Given the description of an element on the screen output the (x, y) to click on. 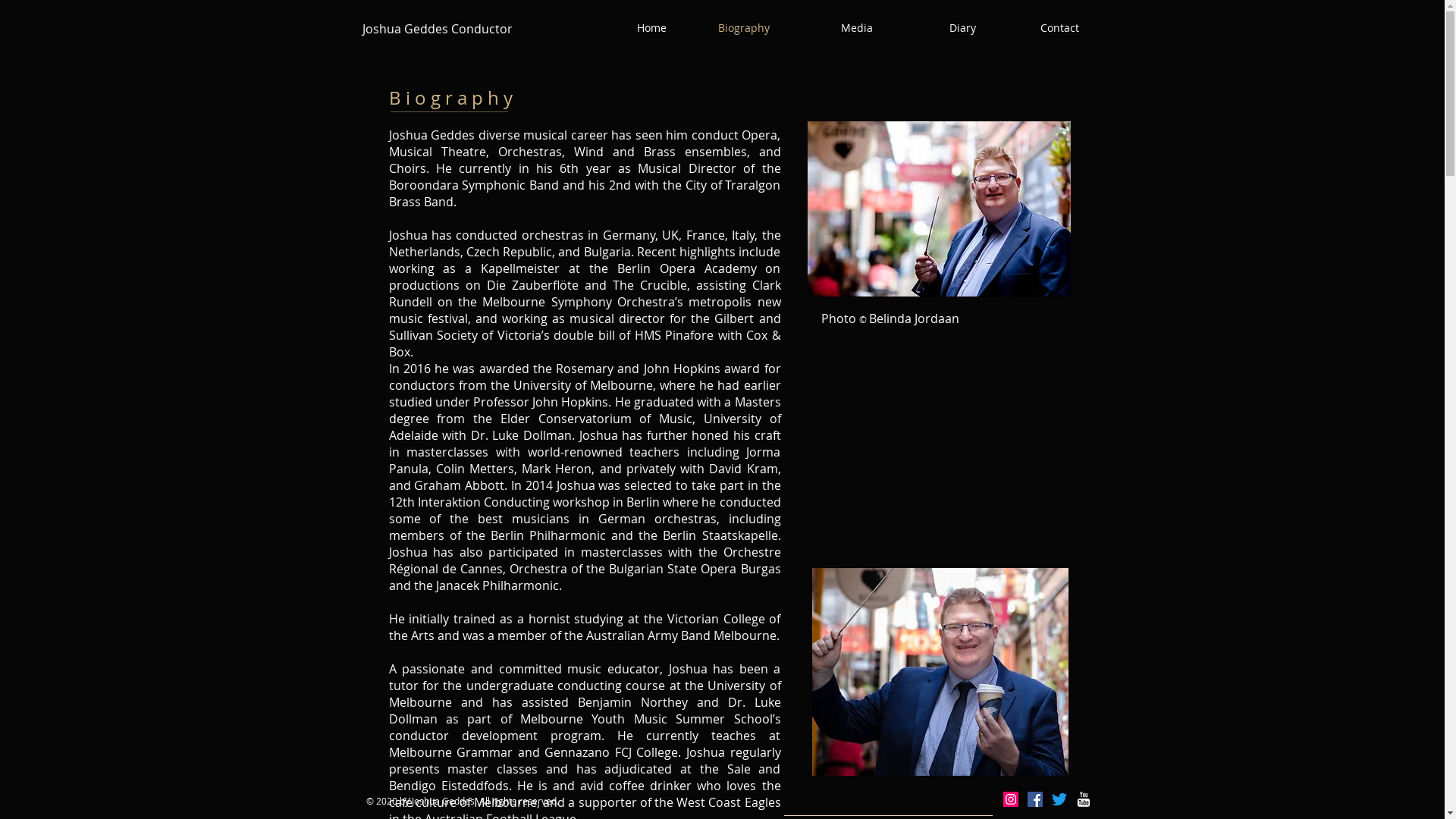
Contact Element type: text (1038, 27)
Home Element type: text (625, 27)
Diary Element type: text (935, 27)
Media Element type: text (832, 27)
Biography Element type: text (729, 27)
IMGP0827.JPG Element type: hover (938, 208)
